Given the description of an element on the screen output the (x, y) to click on. 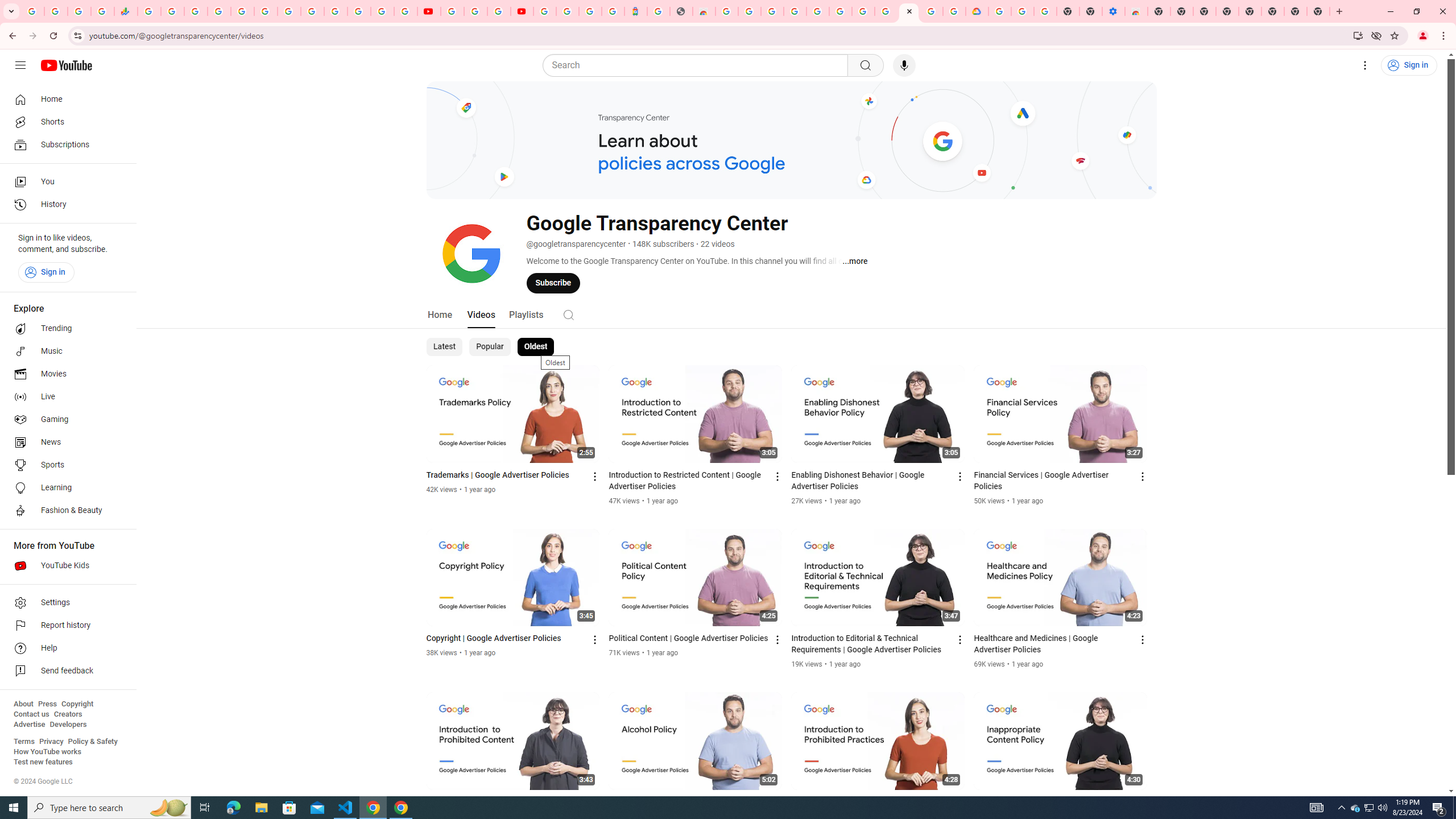
Contact us (31, 714)
Sports (64, 464)
Android TV Policies and Guidelines - Transparency Center (885, 11)
Gaming (64, 419)
News (64, 441)
Music (64, 350)
Turn cookies on or off - Computer - Google Account Help (1045, 11)
How YouTube works (47, 751)
Subscribe (552, 282)
Content Creator Programs & Opportunities - YouTube Creators (521, 11)
